Given the description of an element on the screen output the (x, y) to click on. 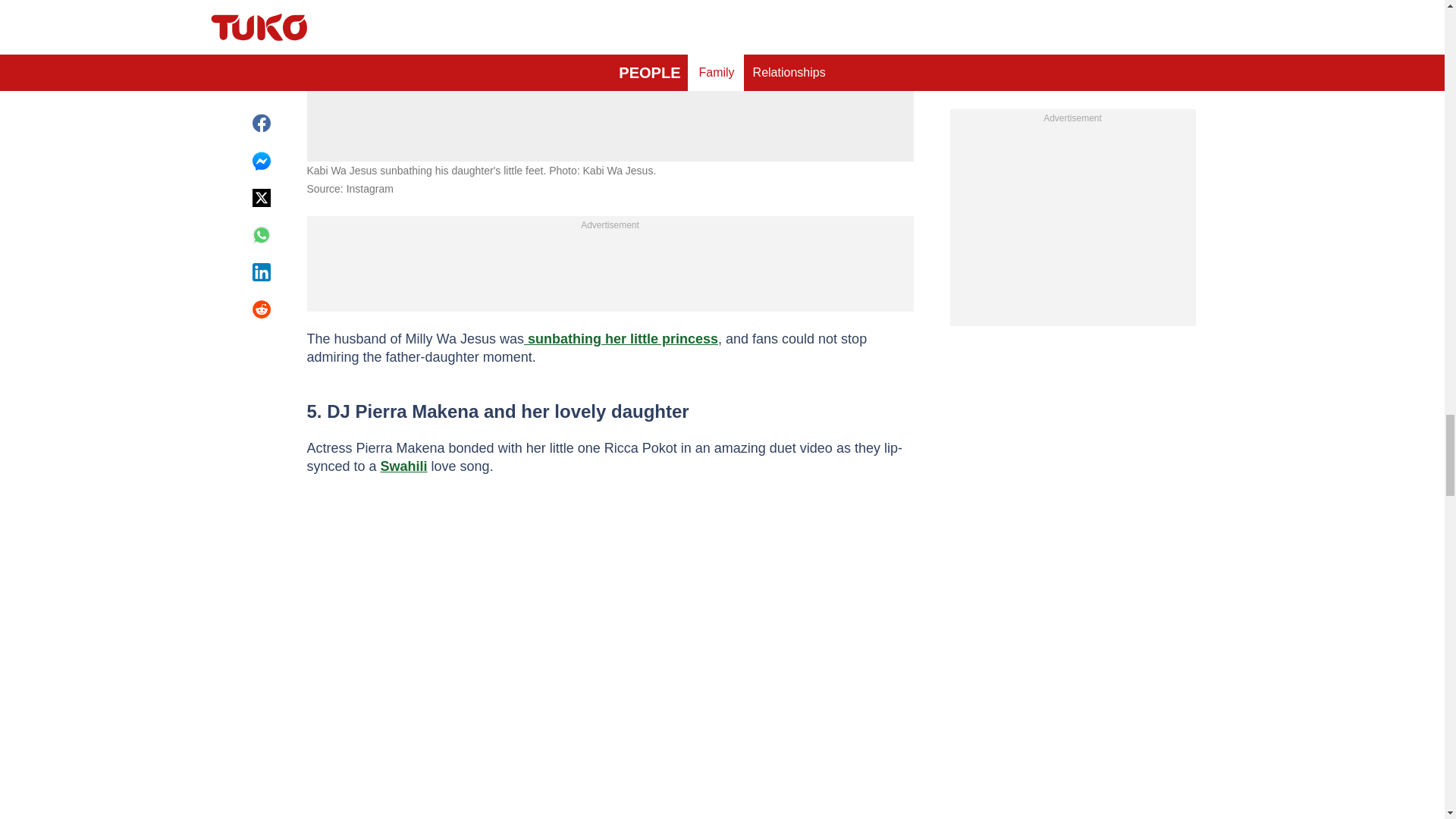
Kabi Wa Jesus sunbathing his daughter's little feet. (609, 35)
